Given the description of an element on the screen output the (x, y) to click on. 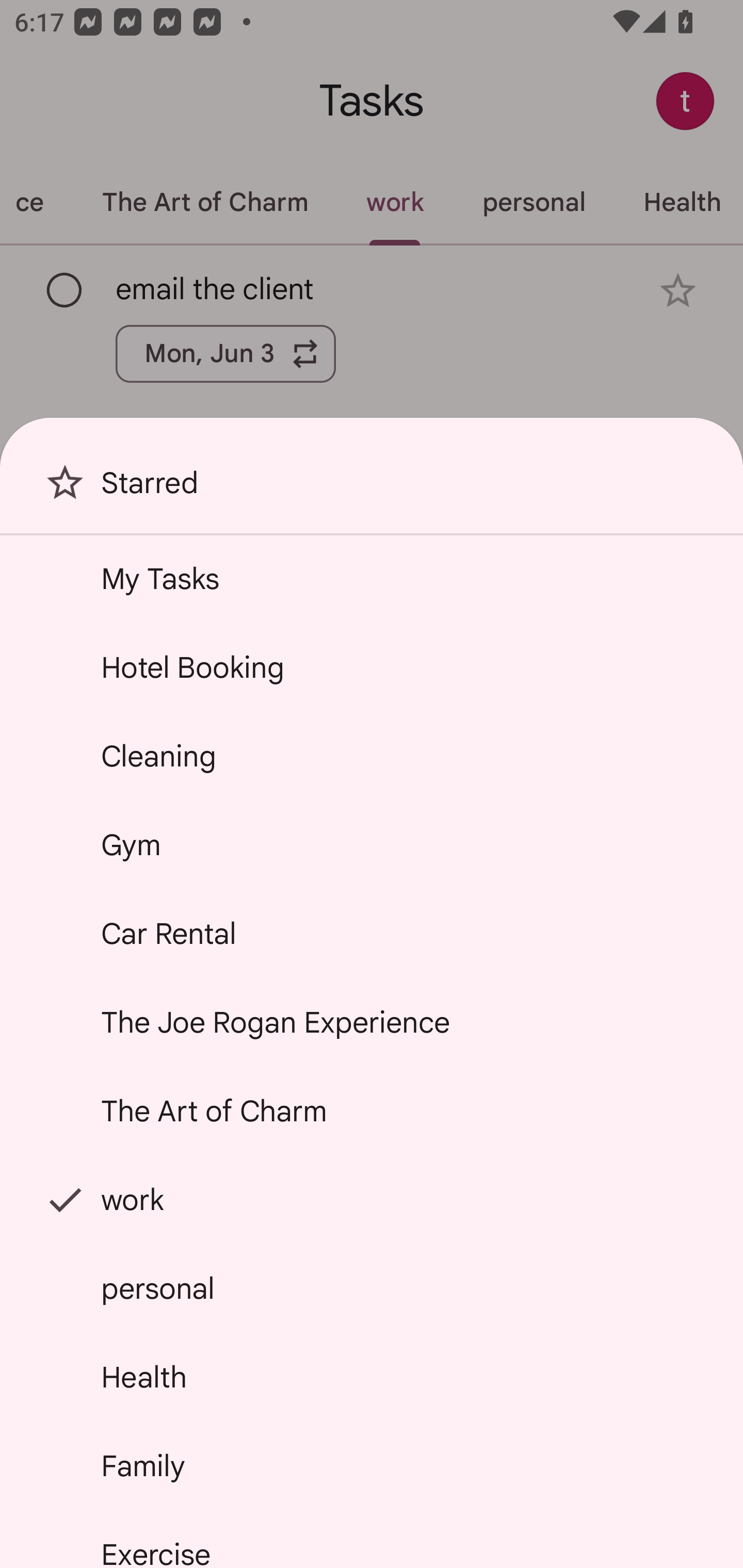
Starred (371, 489)
My Tasks (371, 578)
Hotel Booking (371, 667)
Cleaning (371, 756)
Gym (371, 844)
Car Rental (371, 933)
The Joe Rogan Experience (371, 1022)
The Art of Charm (371, 1110)
work (371, 1200)
personal (371, 1287)
Health (371, 1377)
Family (371, 1465)
Exercise (371, 1539)
